Given the description of an element on the screen output the (x, y) to click on. 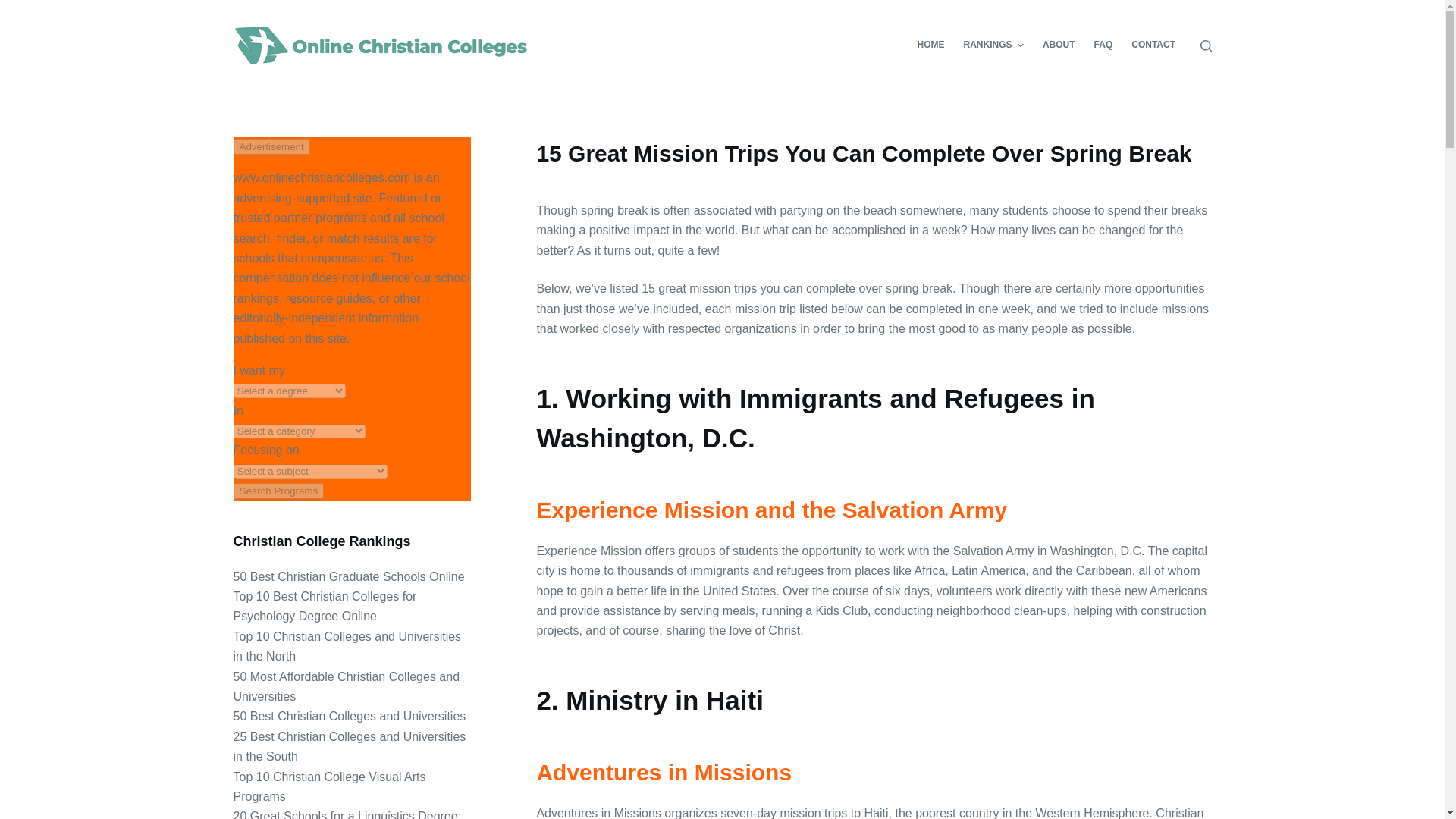
Skip to content (15, 7)
15 Great Mission Trips You Can Complete Over Spring Break (873, 153)
